Given the description of an element on the screen output the (x, y) to click on. 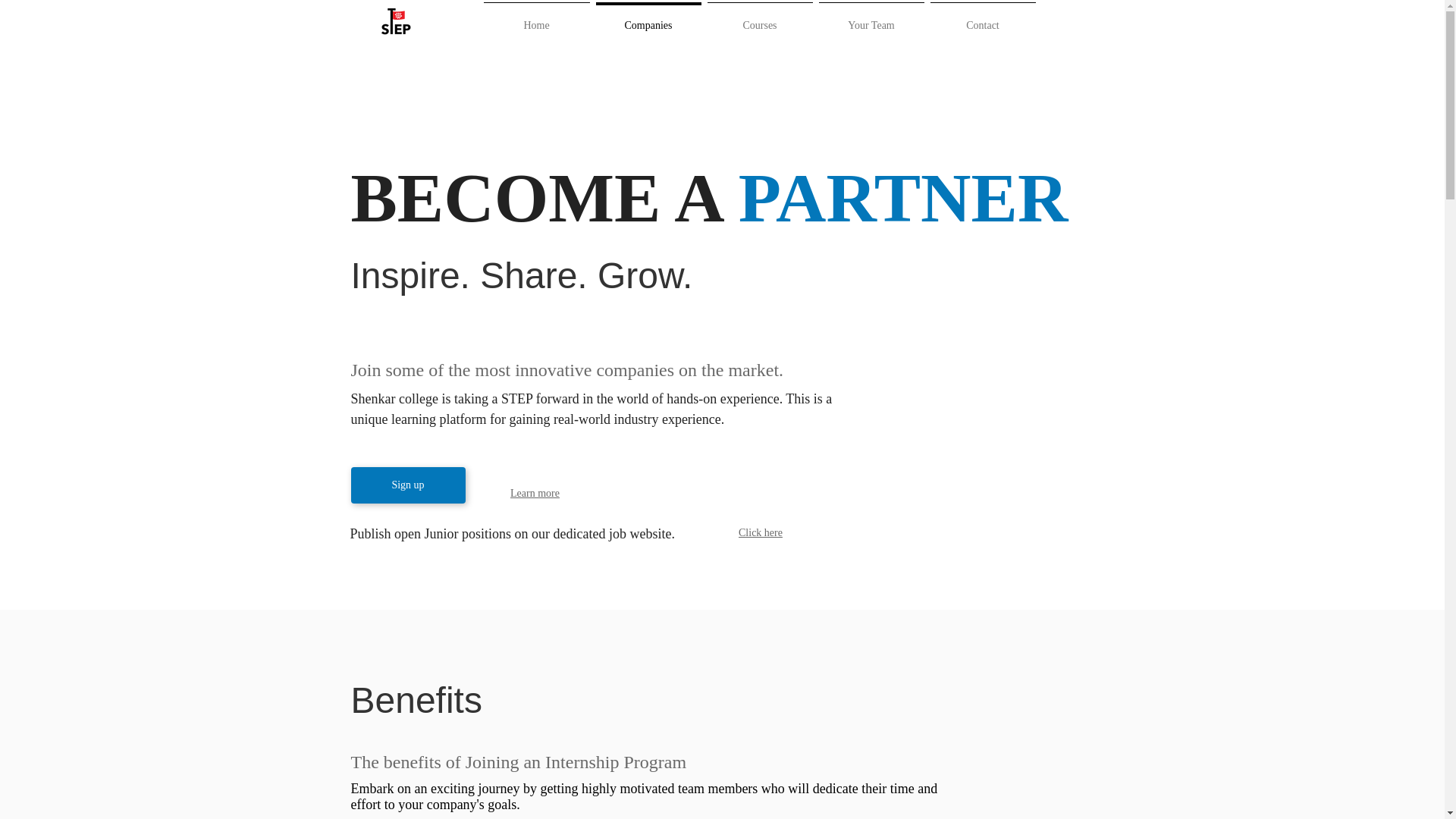
Home (536, 18)
Sign up (407, 484)
Learn more (535, 492)
Click here (760, 532)
Your Team (871, 18)
Courses (759, 18)
Companies (648, 18)
Contact (982, 18)
